Given the description of an element on the screen output the (x, y) to click on. 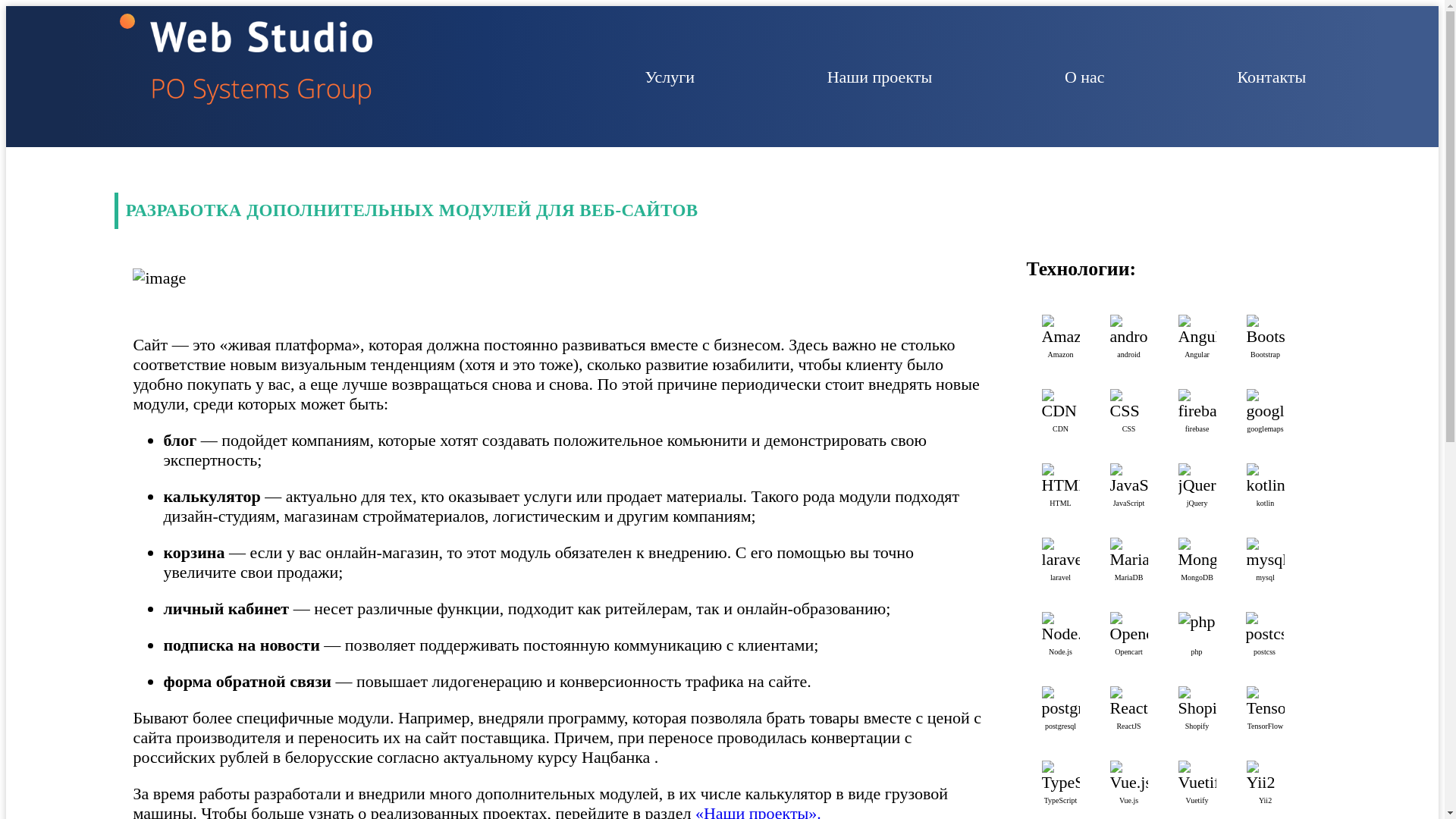
Yii2 Element type: hover (1265, 776)
mysql Element type: hover (1265, 553)
MariaDB Element type: hover (1129, 553)
HTML Element type: hover (1060, 479)
Opencart Element type: hover (1129, 627)
Vuetify Element type: hover (1197, 776)
Vue.js Element type: hover (1129, 776)
postcss Element type: hover (1264, 627)
CSS Element type: hover (1129, 404)
kotlin Element type: hover (1265, 479)
TensorFlow Element type: hover (1265, 702)
jQuery Element type: hover (1197, 479)
googlemaps Element type: hover (1265, 404)
JavaScript Element type: hover (1129, 479)
Node.js Element type: hover (1060, 627)
TypeScript Element type: hover (1060, 776)
firebase Element type: hover (1197, 404)
android Element type: hover (1129, 330)
postgresql Element type: hover (1060, 702)
Angular Element type: hover (1197, 330)
MongoDB Element type: hover (1197, 553)
Bootstrap Element type: hover (1265, 330)
laravel Element type: hover (1060, 553)
Shopify Element type: hover (1197, 702)
php Element type: hover (1196, 621)
ReactJS Element type: hover (1129, 702)
CDN Element type: hover (1060, 404)
Amazon Element type: hover (1060, 330)
